Given the description of an element on the screen output the (x, y) to click on. 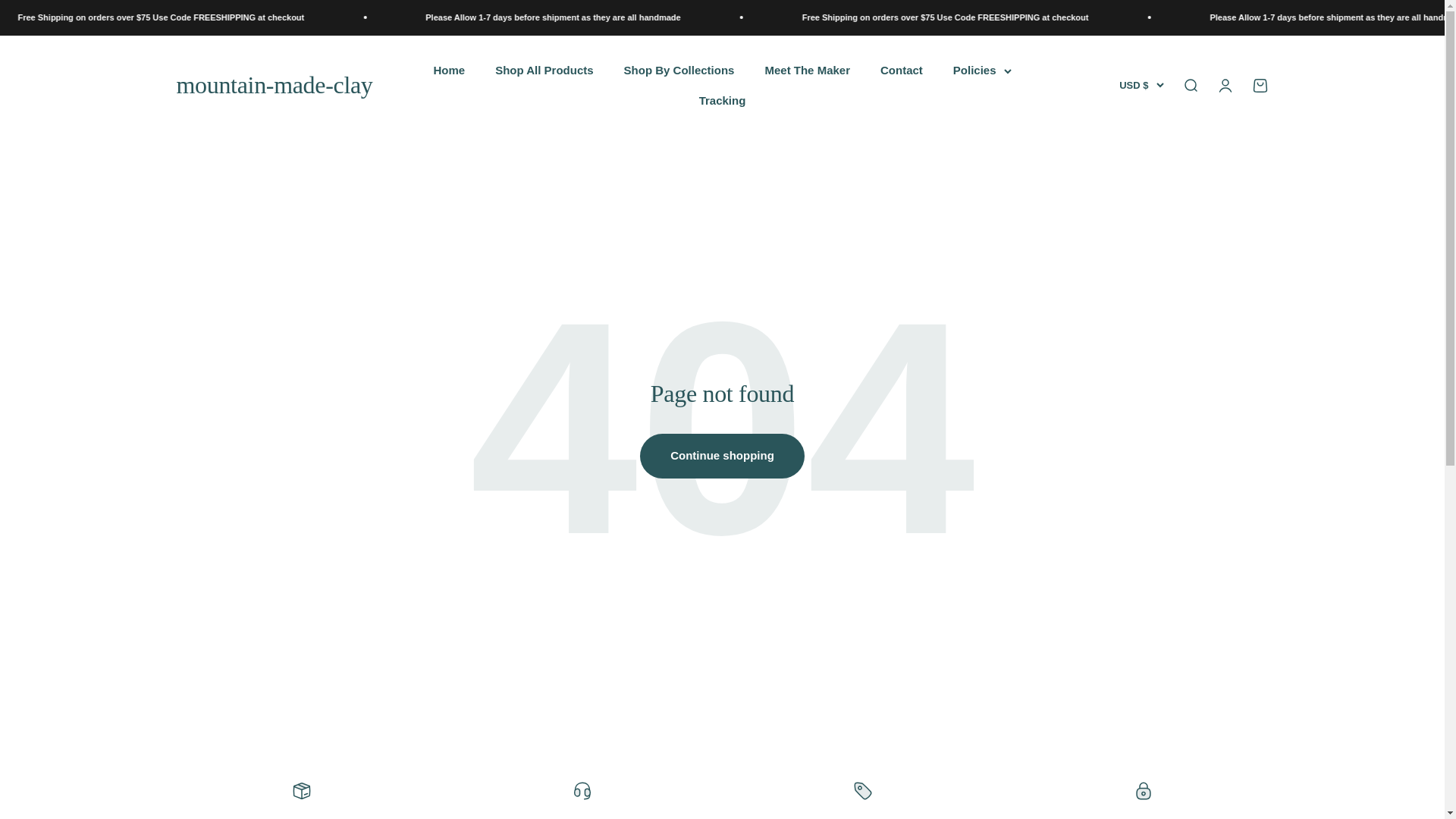
Shop By Collections (679, 69)
Meet The Maker (807, 69)
Shop All Products (543, 69)
Tracking (721, 100)
Home (448, 69)
mountain-made-clay (274, 85)
Contact (901, 69)
